Given the description of an element on the screen output the (x, y) to click on. 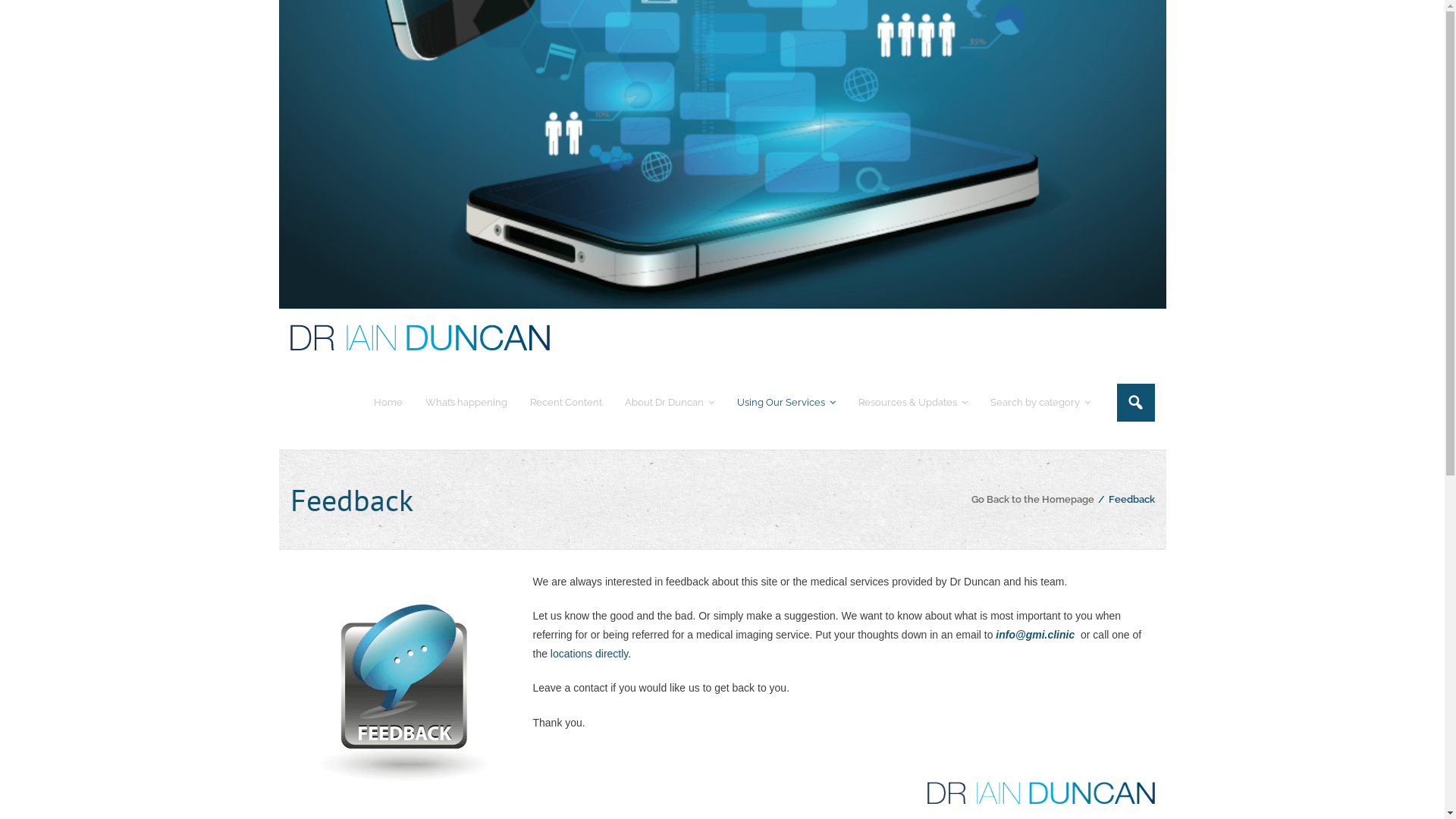
Go Back to the Homepage Element type: text (1031, 499)
About Dr Duncan Element type: text (668, 401)
Recent Content Element type: text (565, 401)
info@gmi.clinic Element type: text (1034, 634)
locations directly Element type: text (587, 653)
Search by category Element type: text (1039, 401)
Resources & Updates Element type: text (912, 401)
Home Element type: text (388, 401)
Using Our Services Element type: text (785, 401)
Search Element type: text (27, 14)
